Given the description of an element on the screen output the (x, y) to click on. 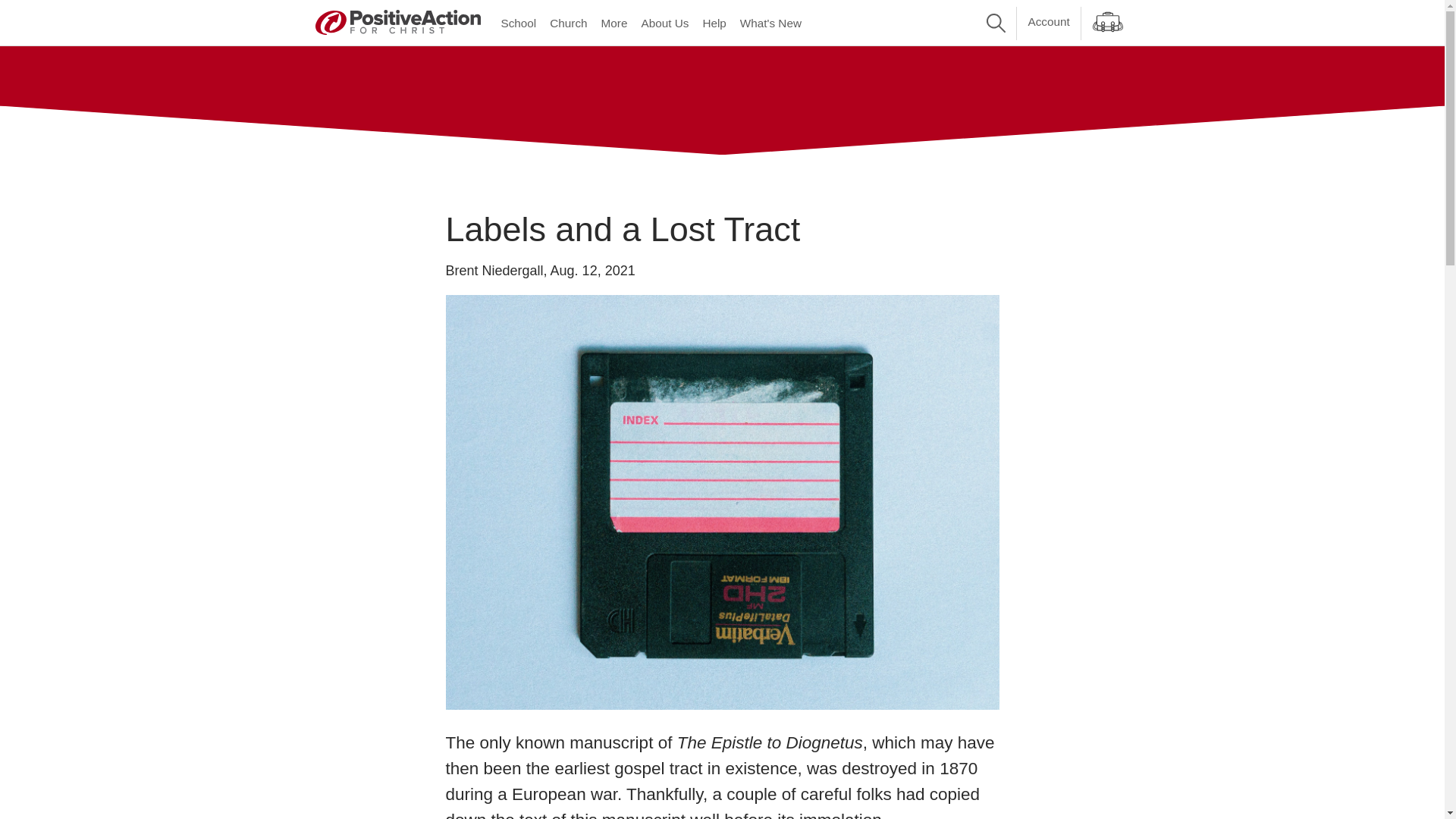
Church (568, 23)
What's New (770, 23)
Search (996, 22)
More (614, 23)
Search (995, 22)
About Us (664, 23)
School (519, 23)
Help (713, 23)
Account (1047, 21)
